Given the description of an element on the screen output the (x, y) to click on. 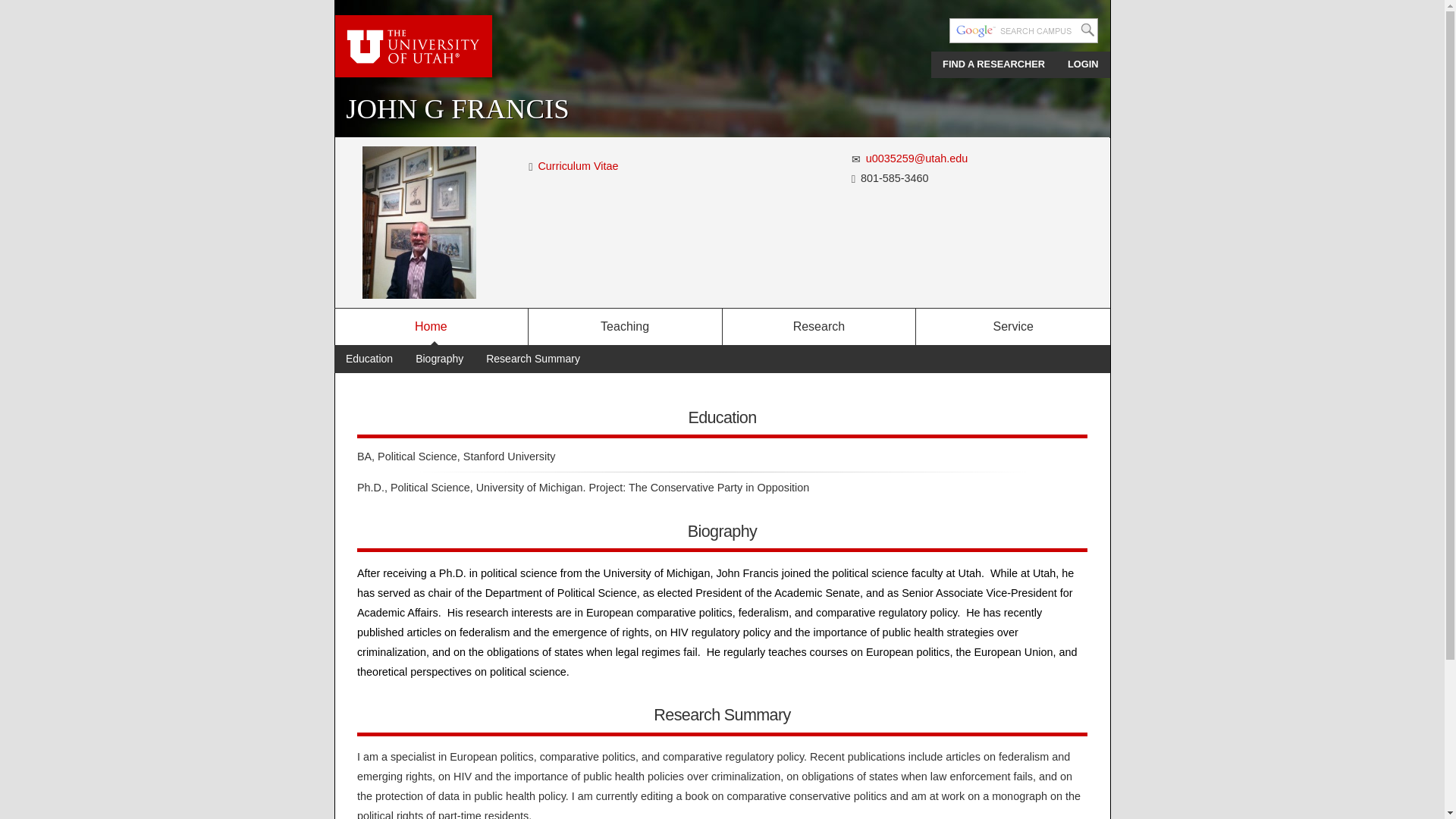
opens new window (579, 165)
FIND A RESEARCHER (993, 64)
Biography (439, 358)
Service (1012, 326)
JOHN G FRANCIS portrait (419, 222)
Search (1087, 29)
phone (854, 178)
email (857, 158)
Home (430, 326)
Research Summary (532, 358)
Submit Search (1087, 29)
Curriculum Vitae (531, 166)
LOGIN (1083, 64)
Teaching (625, 326)
